Given the description of an element on the screen output the (x, y) to click on. 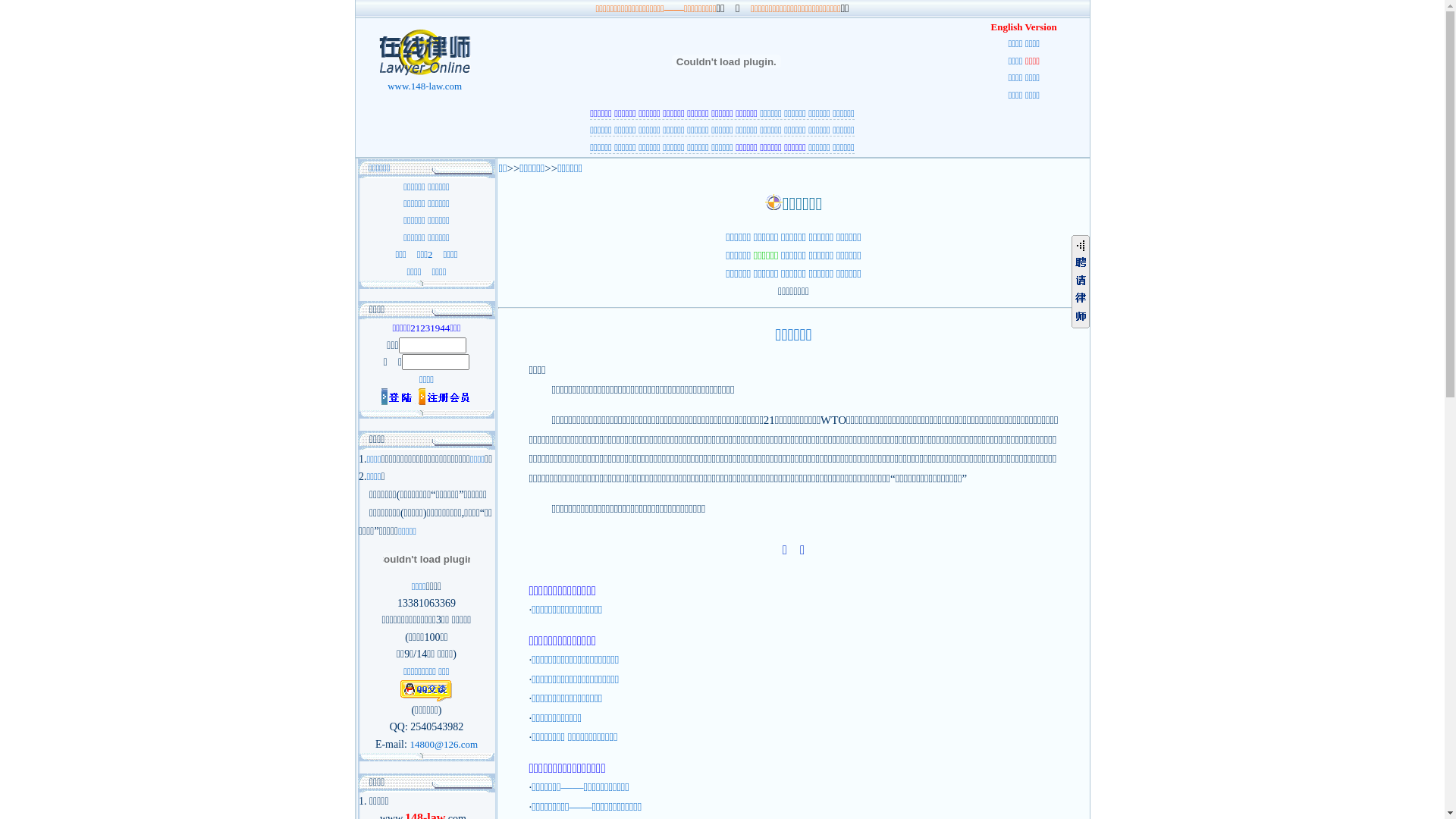
www.148-law.com Element type: text (424, 80)
English Version Element type: text (1024, 26)
14800@126.com Element type: text (443, 743)
